Given the description of an element on the screen output the (x, y) to click on. 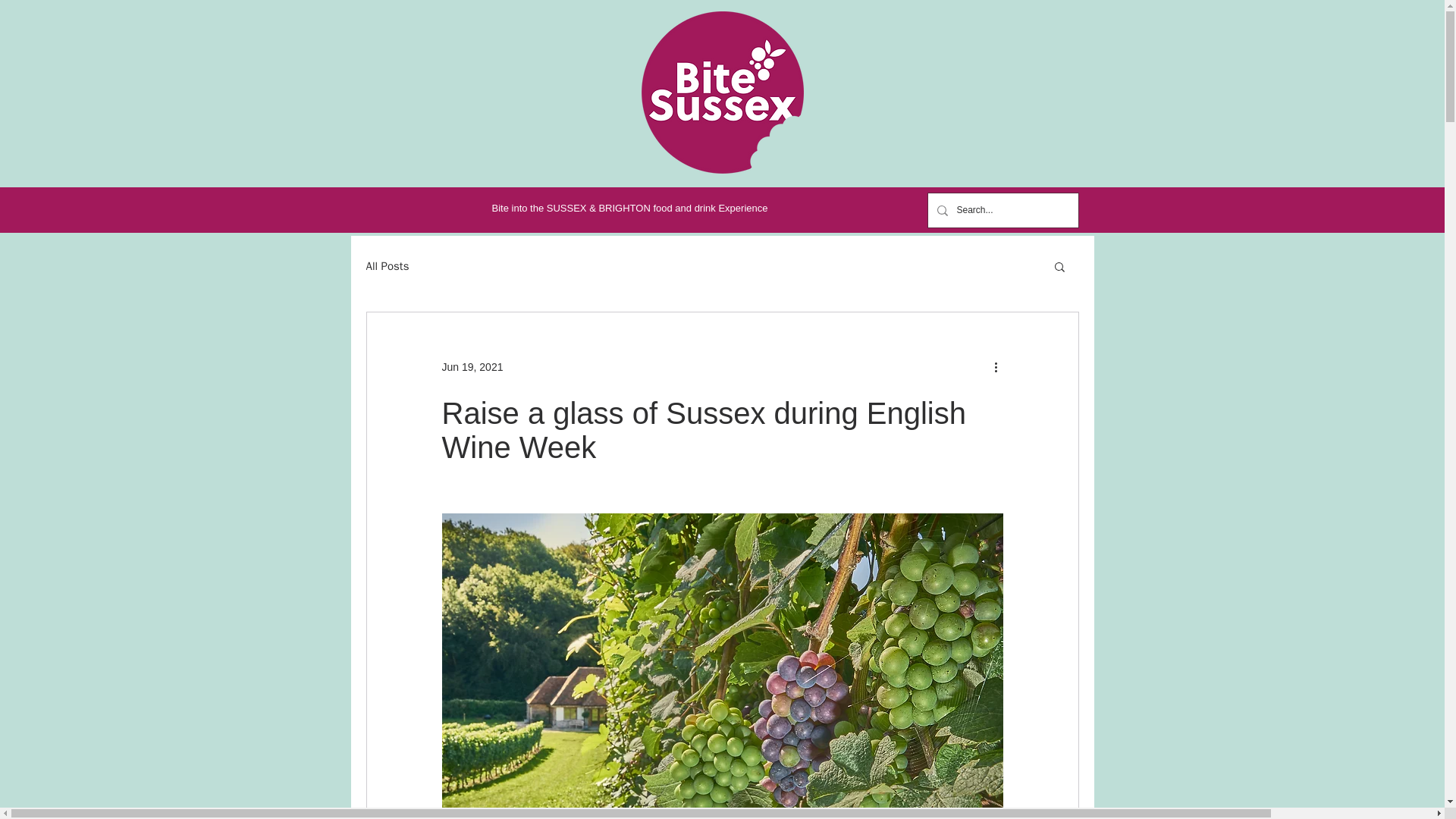
Jun 19, 2021 (471, 367)
All Posts (387, 266)
